Given the description of an element on the screen output the (x, y) to click on. 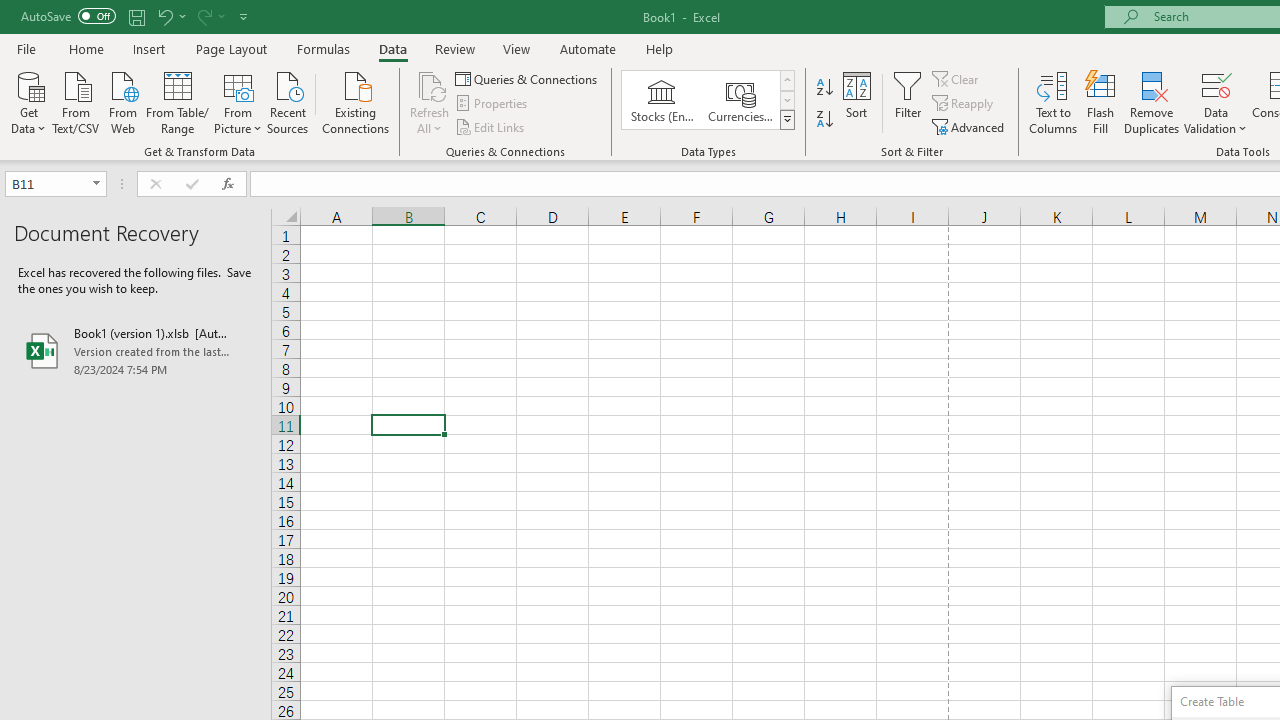
System (10, 11)
From Text/CSV (75, 101)
System (10, 11)
Data Validation... (1215, 84)
Clear (957, 78)
Save (136, 15)
Text to Columns... (1053, 102)
Quick Access Toolbar (136, 16)
Get Data (28, 101)
Queries & Connections (527, 78)
View (517, 48)
Edit Links (491, 126)
Currencies (English) (740, 100)
Redo (203, 15)
Automate (588, 48)
